Given the description of an element on the screen output the (x, y) to click on. 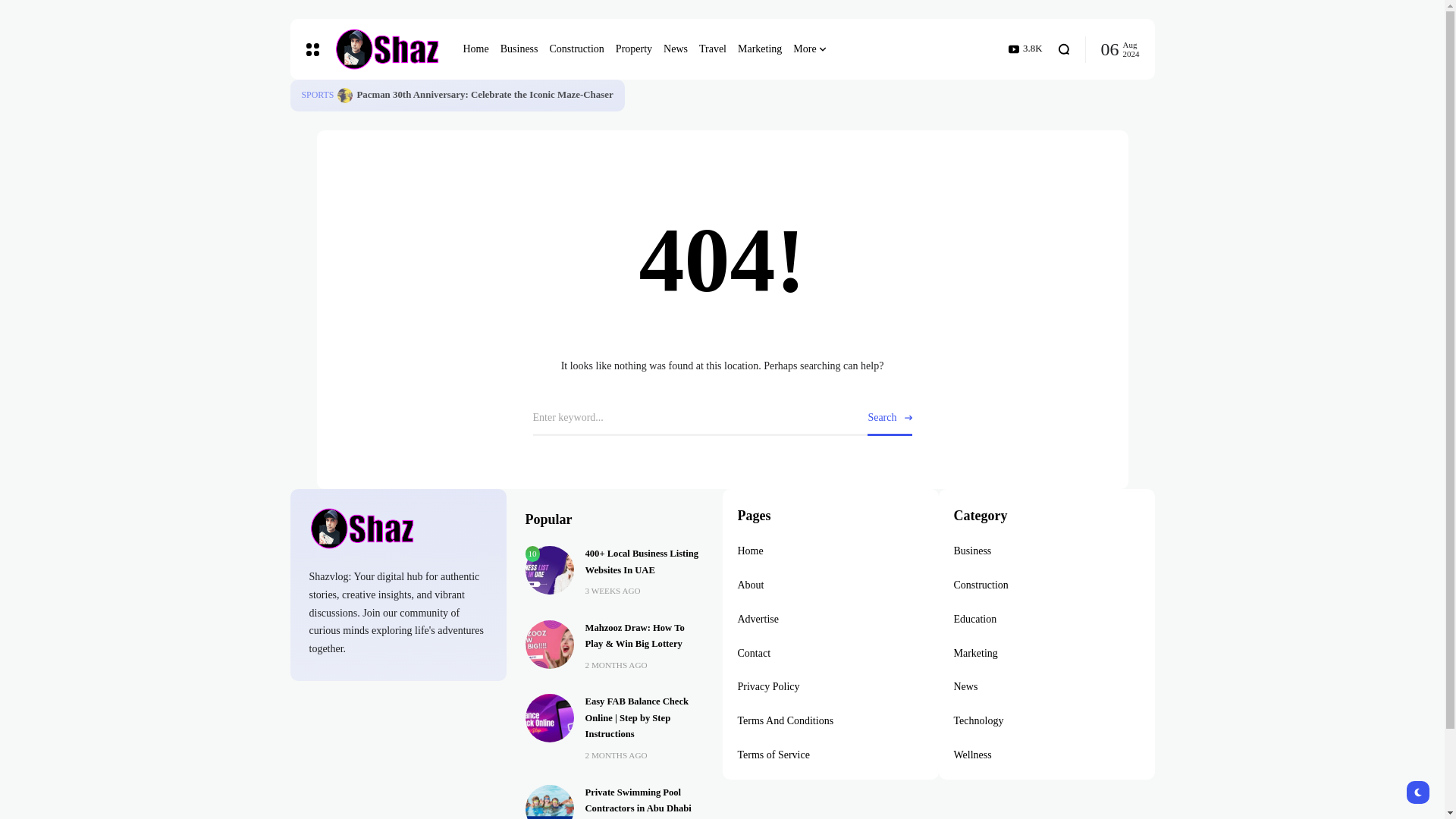
Pacman 30th Anniversary: Celebrate the Iconic Maze-Chaser (484, 94)
Private Swimming Pool Contractors in Abu Dhabi (548, 801)
Shav Vlog Blog (397, 527)
3.8K (1025, 48)
SPORTS (317, 95)
Construction (577, 49)
Shav Vlog Blog (386, 48)
Pacman 30th Anniversary: Celebrate the Iconic Maze-Chaser (344, 95)
